Given the description of an element on the screen output the (x, y) to click on. 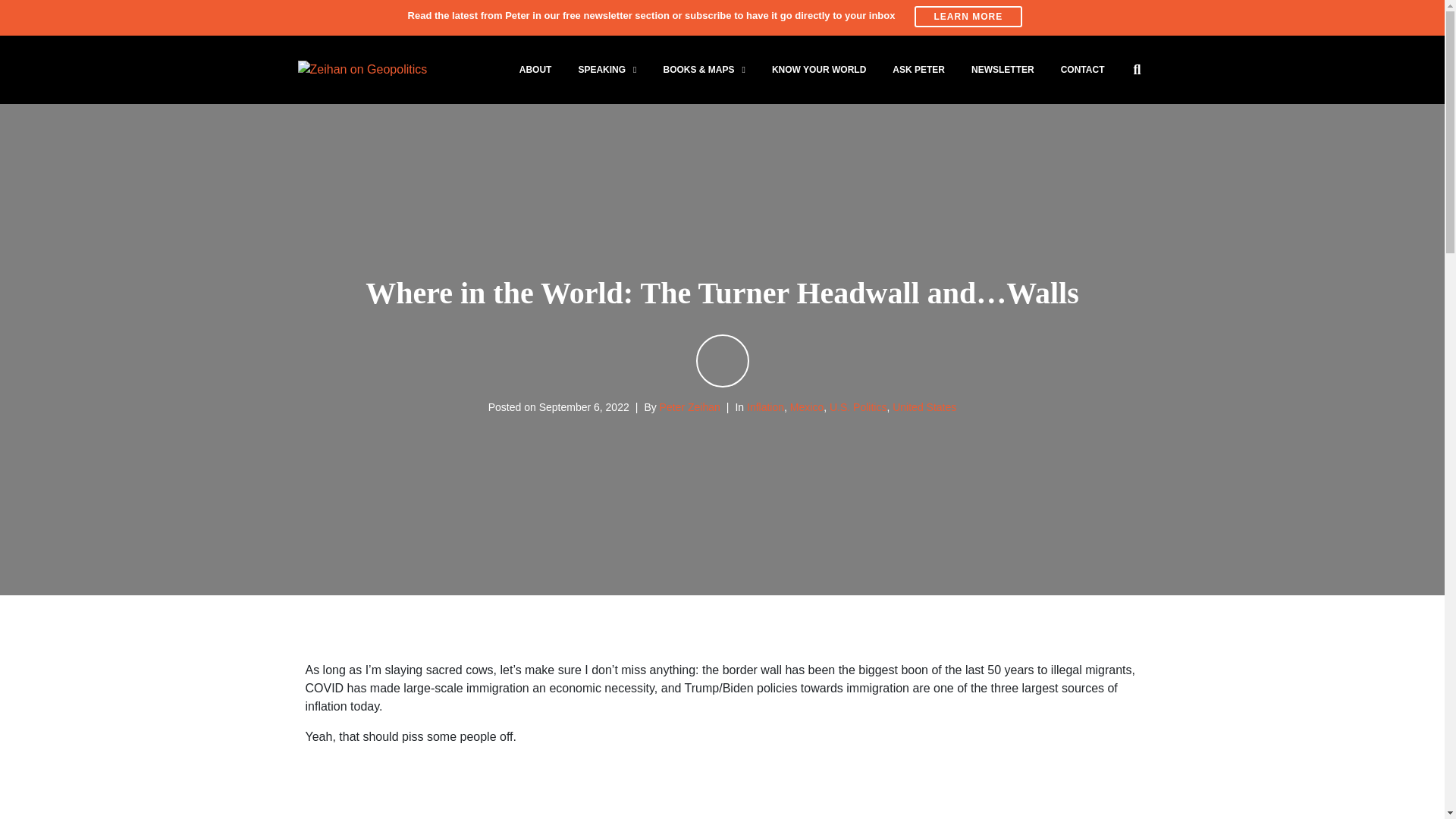
ASK PETER (918, 69)
NEWSLETTER (1002, 69)
SPEAKING (606, 69)
KNOW YOUR WORLD (818, 69)
LEARN MORE (968, 16)
ABOUT (535, 69)
CONTACT (1082, 69)
